Given the description of an element on the screen output the (x, y) to click on. 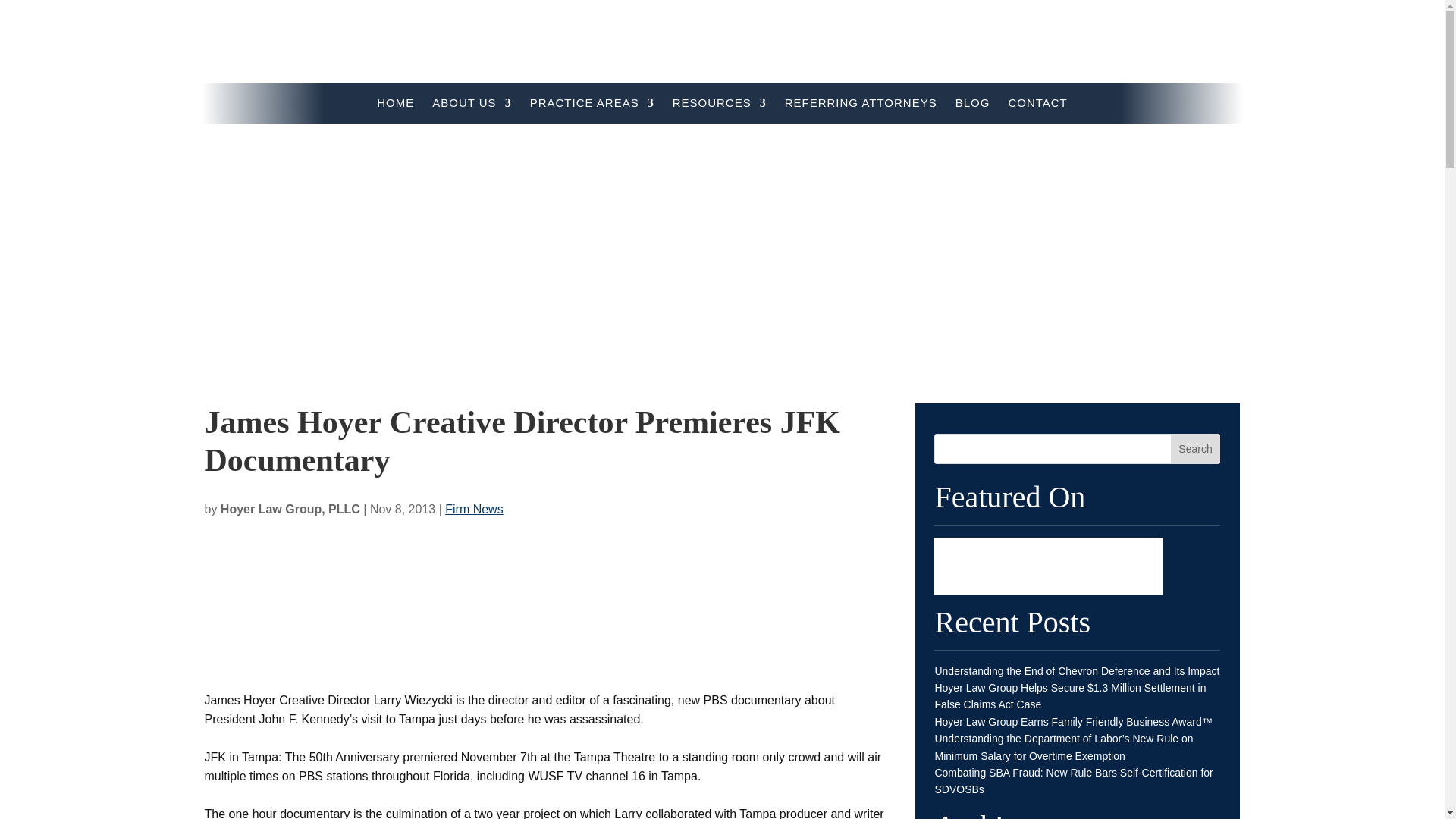
Search (1195, 449)
RESOURCES (719, 105)
HOME (395, 105)
PRACTICE AREAS (591, 105)
ABOUT US (471, 105)
844-531-0082 (1220, 48)
